Given the description of an element on the screen output the (x, y) to click on. 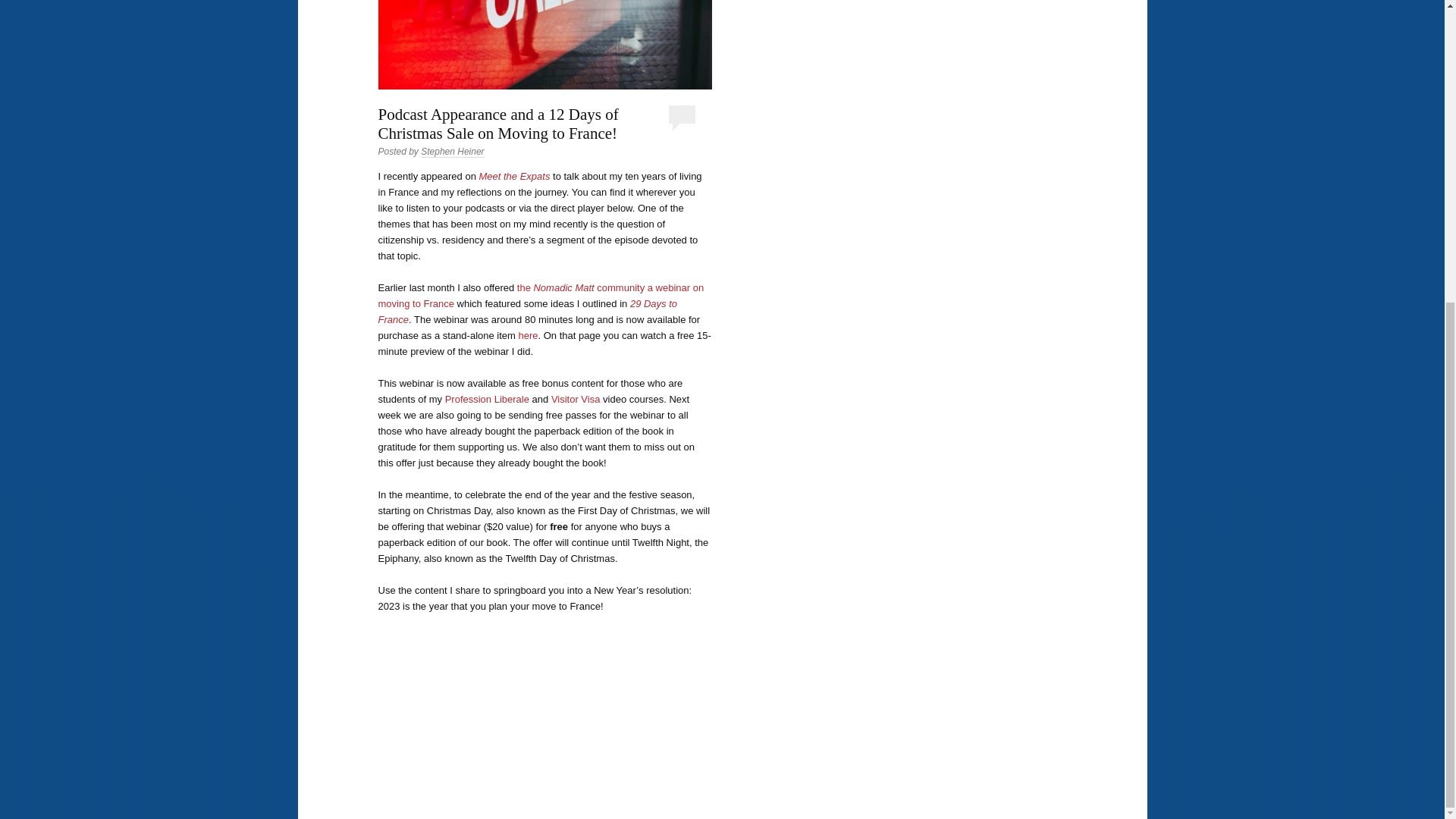
Stephen Heiner (451, 152)
the Nomadic Matt community a webinar on moving to France (540, 295)
View all posts by Stephen Heiner (451, 152)
Meet the Expats (514, 175)
29 Days to France (527, 311)
Visitor Visa (575, 398)
Profession Liberale (487, 398)
here (528, 335)
